Given the description of an element on the screen output the (x, y) to click on. 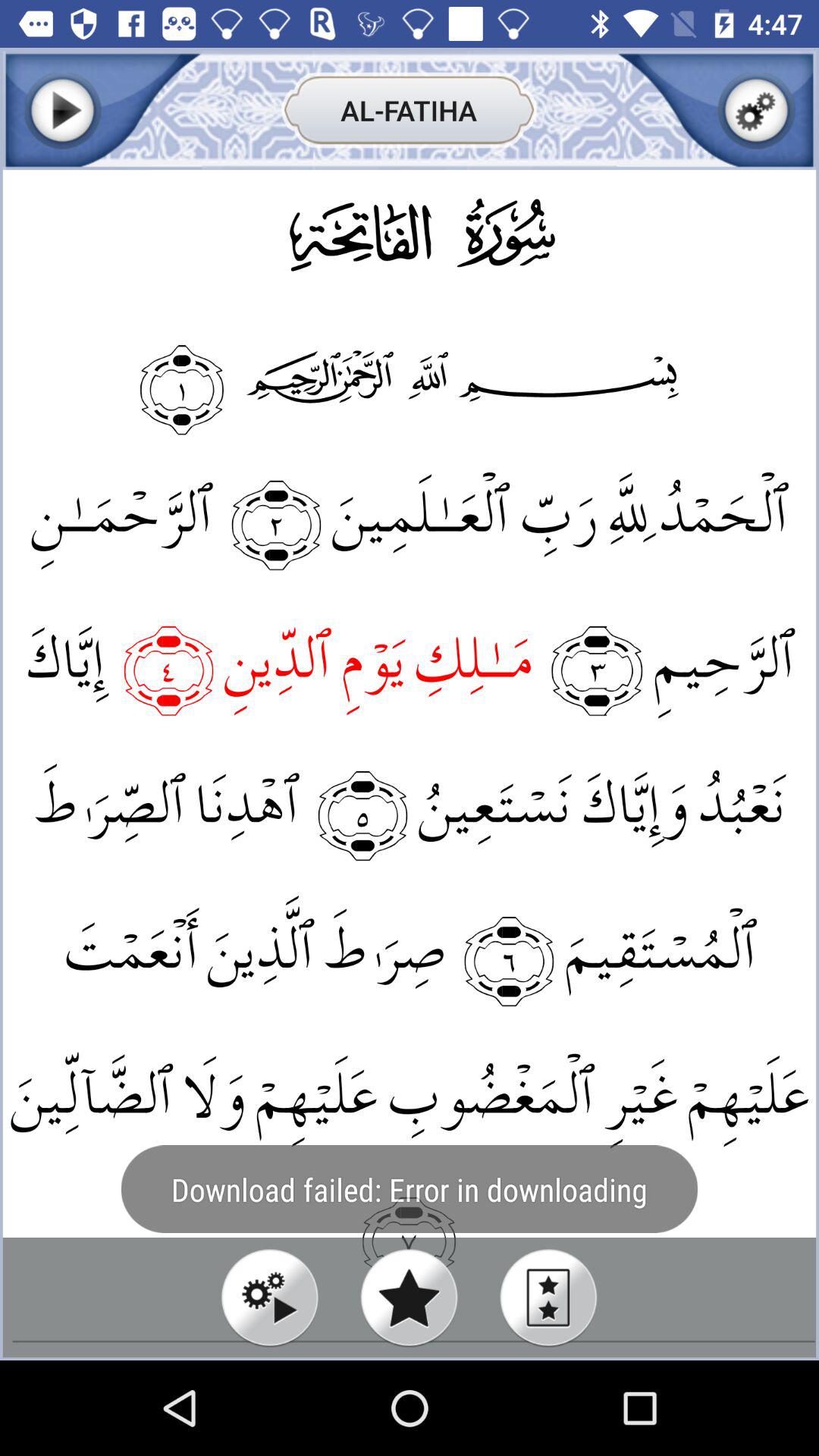
go back (62, 110)
